Given the description of an element on the screen output the (x, y) to click on. 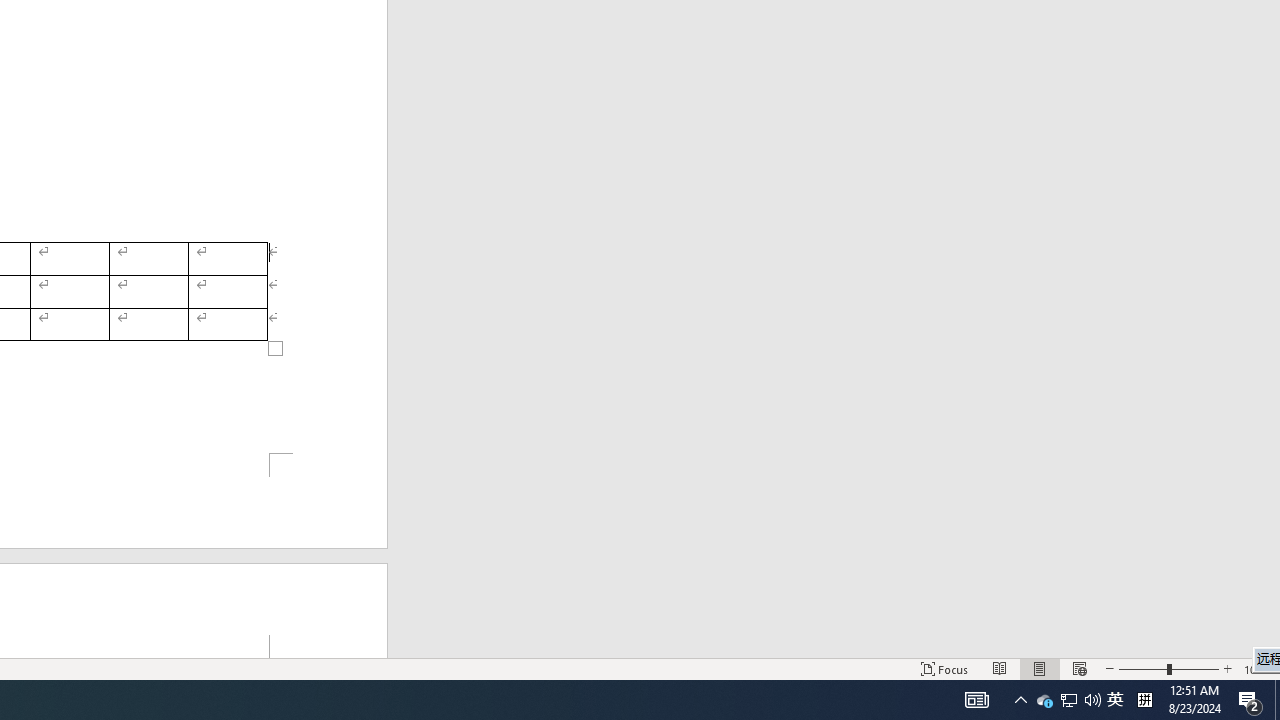
Show desktop (1277, 699)
Zoom (1168, 668)
Q2790: 100% (1092, 699)
Zoom Out (1142, 668)
Focus  (944, 668)
Zoom In (1227, 668)
AutomationID: 4105 (1115, 699)
Read Mode (1044, 699)
Web Layout (976, 699)
Tray Input Indicator - Chinese (Simplified, China) (1000, 668)
Action Center, 2 new notifications (1069, 699)
Print Layout (1079, 668)
